Given the description of an element on the screen output the (x, y) to click on. 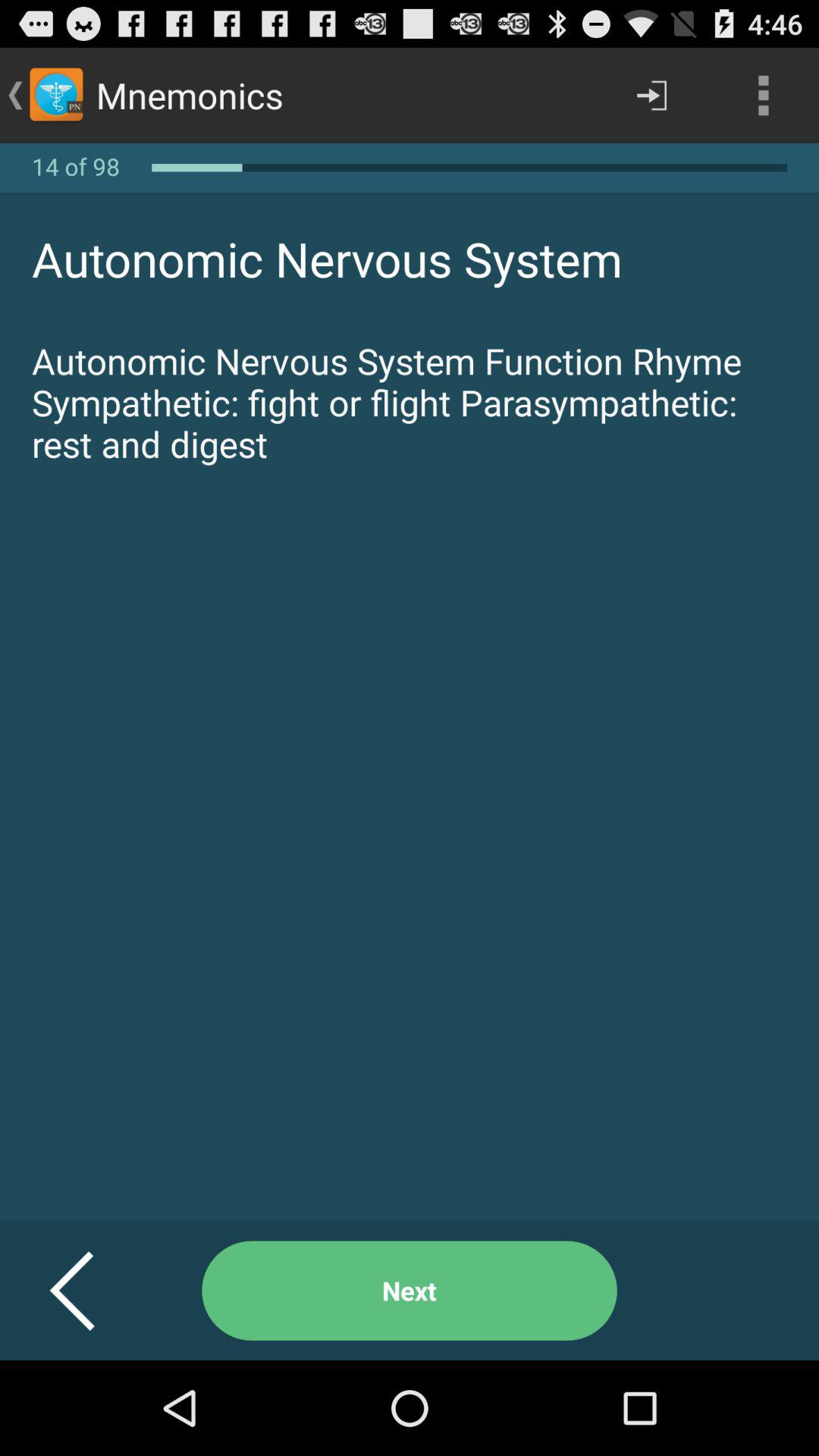
select item next to next icon (91, 1290)
